Given the description of an element on the screen output the (x, y) to click on. 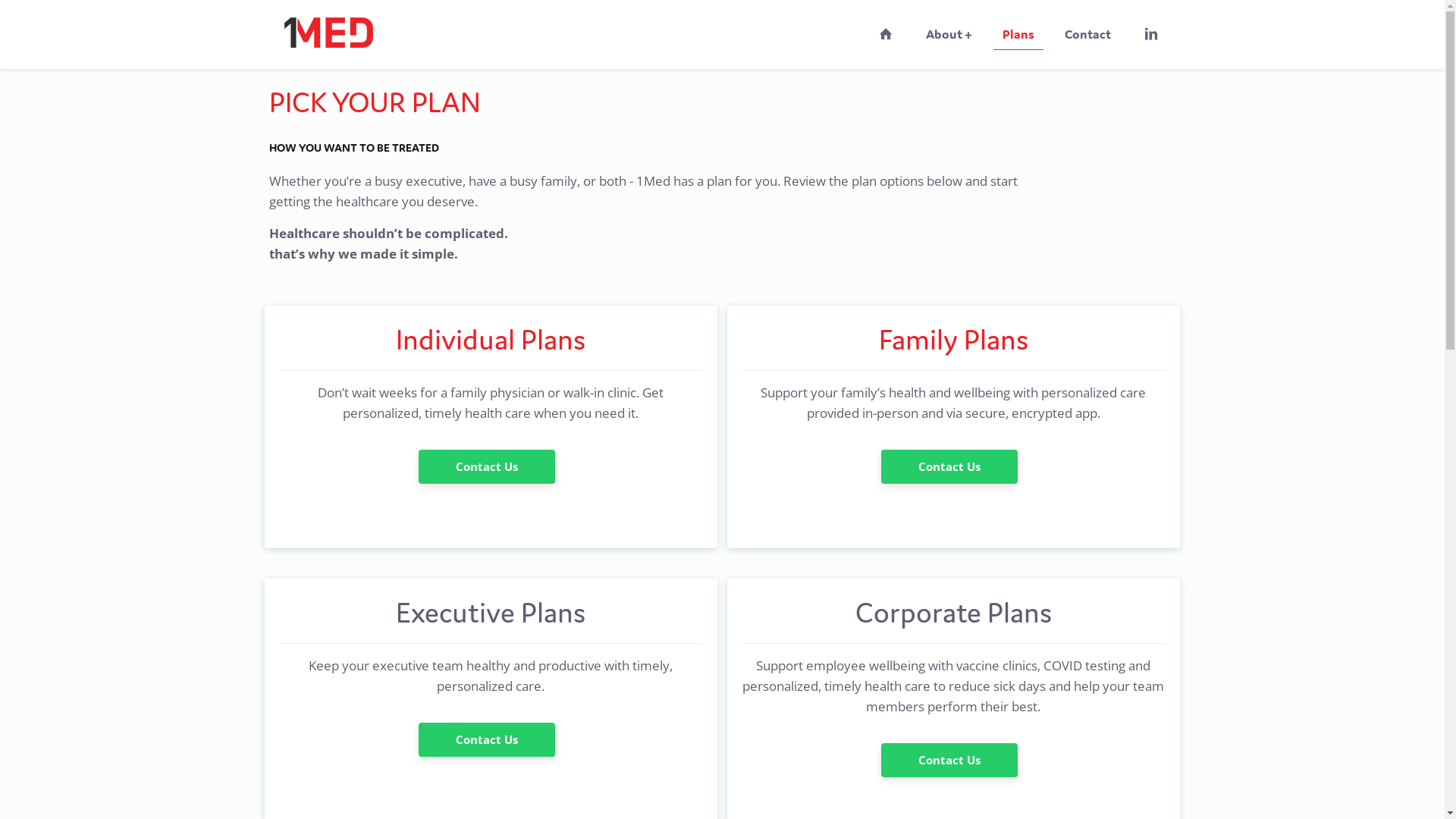
Contact Element type: text (1087, 34)
About + Element type: text (948, 34)
Contact Us Element type: text (949, 466)
1Med Element type: hover (328, 26)
Contact Us Element type: text (486, 466)
Contact Us Element type: text (486, 739)
Plans Element type: text (1018, 34)
Contact Us Element type: text (949, 760)
